Given the description of an element on the screen output the (x, y) to click on. 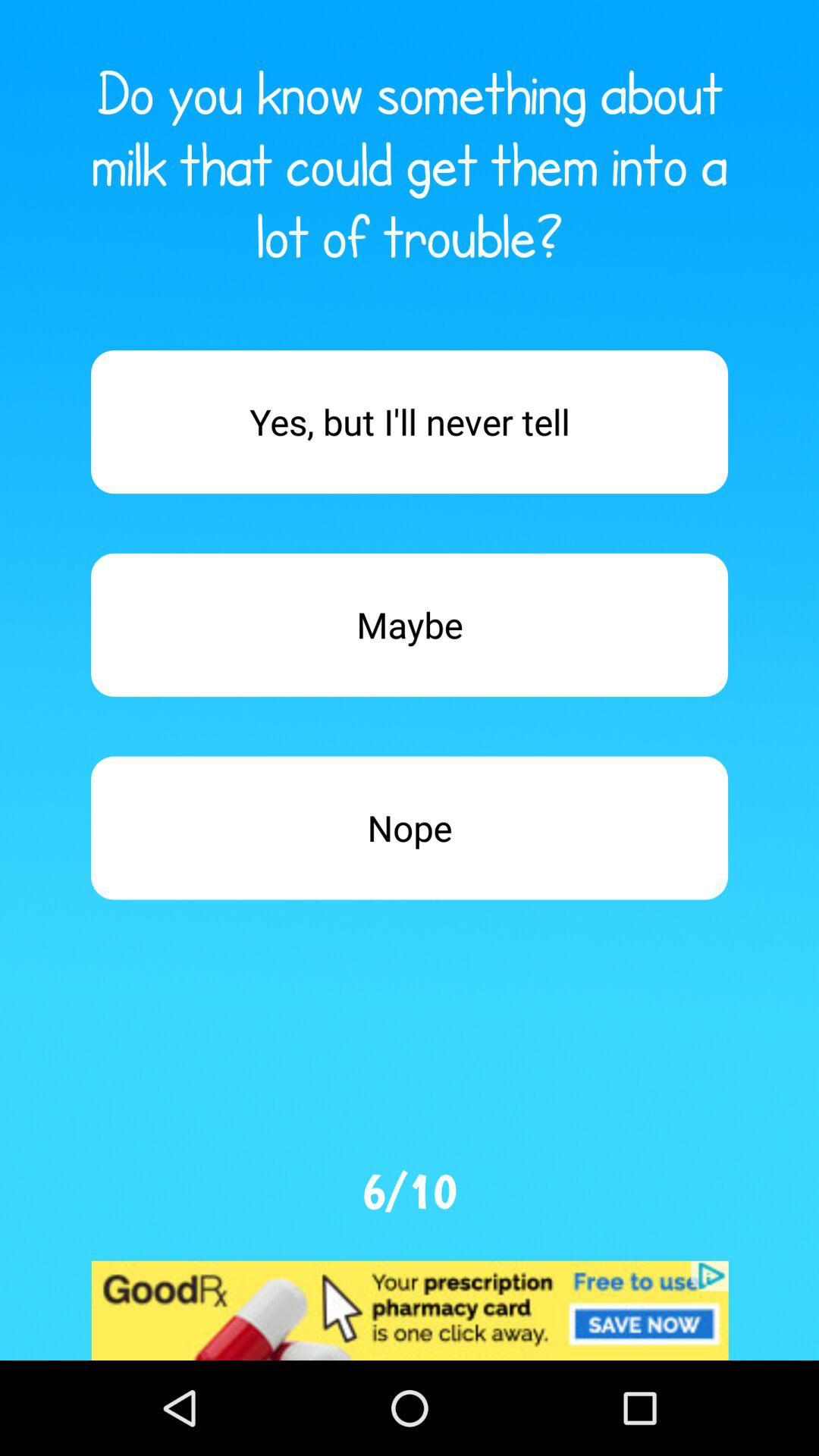
select option (409, 421)
